Given the description of an element on the screen output the (x, y) to click on. 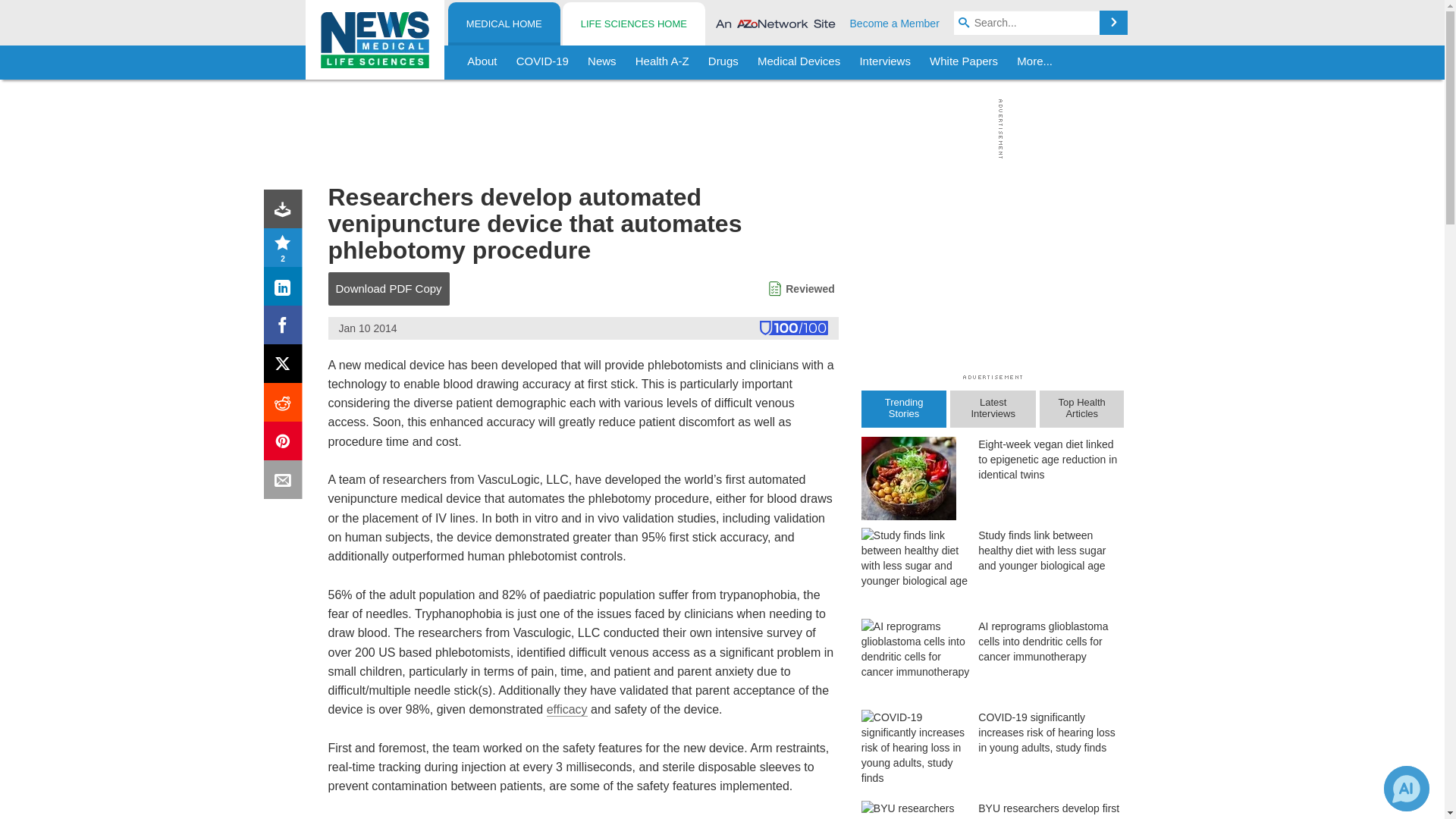
About (482, 62)
White Papers (963, 62)
Rating (285, 250)
X (285, 366)
News (601, 62)
Email (285, 483)
Interviews (884, 62)
Become a Member (894, 22)
Facebook (285, 328)
Download PDF copy (285, 212)
Search (1112, 22)
Reddit (285, 405)
More... (1035, 62)
LinkedIn (285, 289)
Pinterest (285, 443)
